Given the description of an element on the screen output the (x, y) to click on. 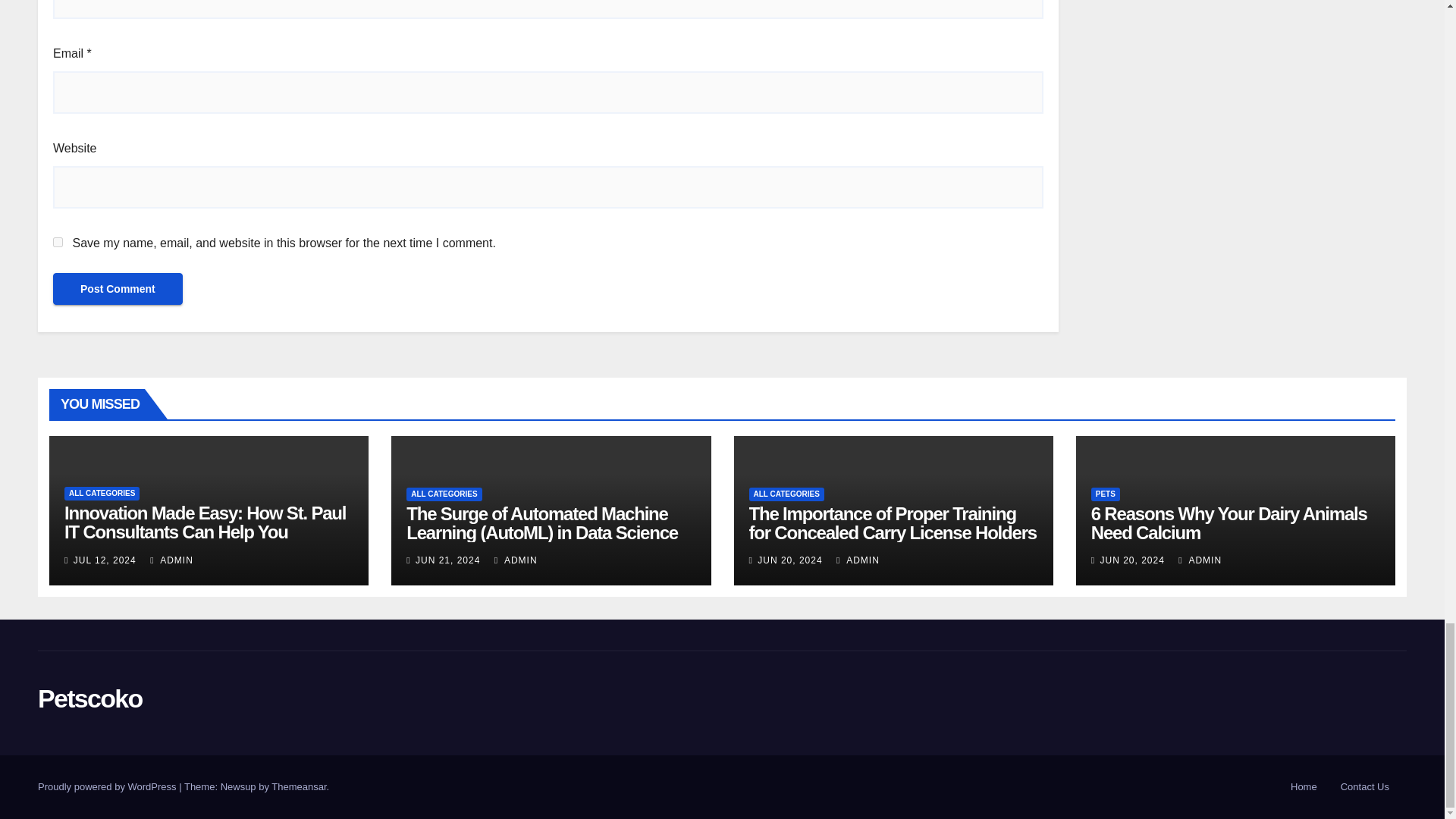
Permalink to: 6 Reasons Why Your Dairy Animals Need Calcium (1228, 522)
yes (57, 242)
Post Comment (117, 288)
Post Comment (117, 288)
Home (1303, 786)
